Given the description of an element on the screen output the (x, y) to click on. 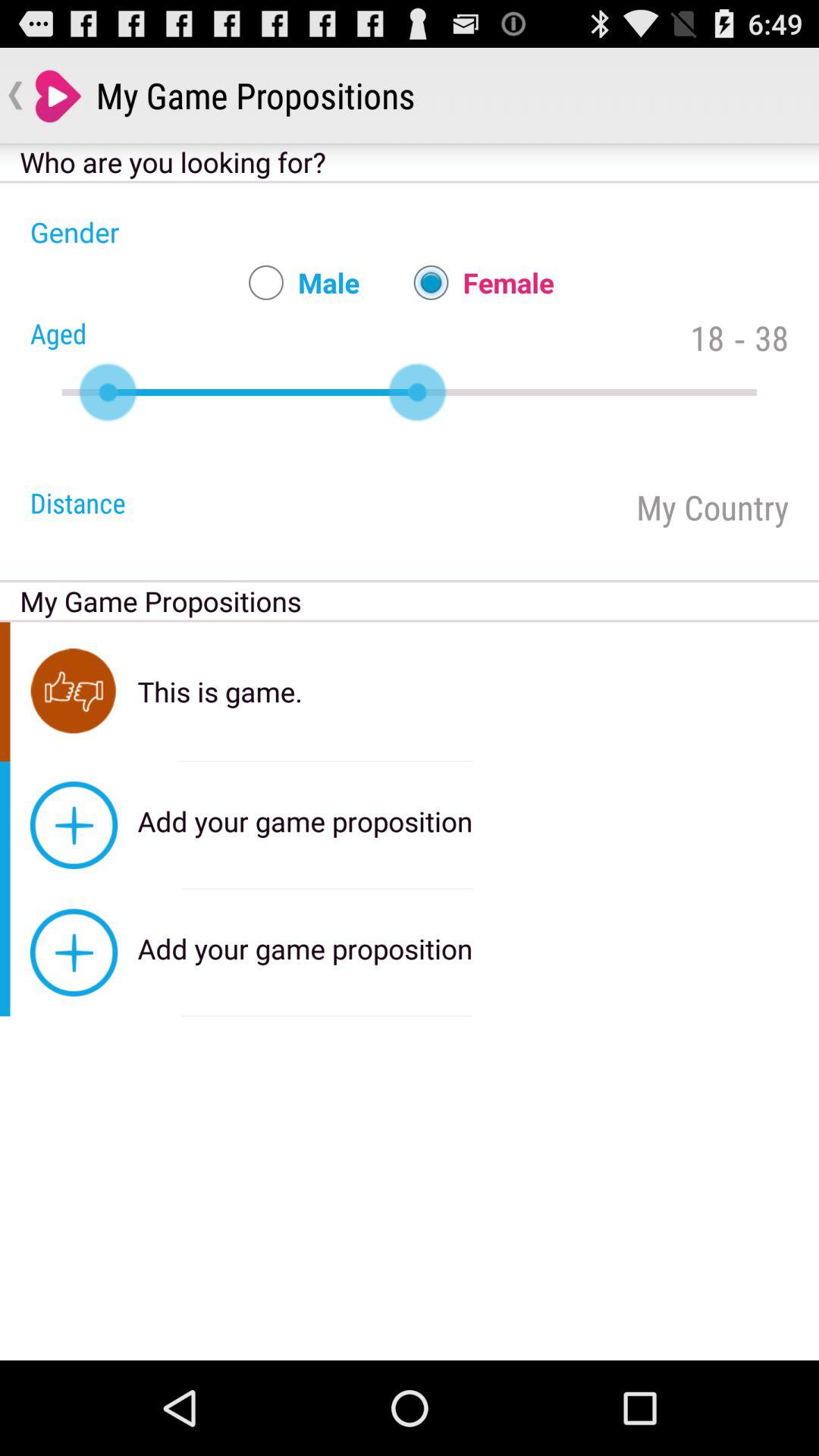
select the button male which is next to gender (296, 282)
select the icon which is on top left corner (55, 95)
select the plus icon (74, 824)
